Given the description of an element on the screen output the (x, y) to click on. 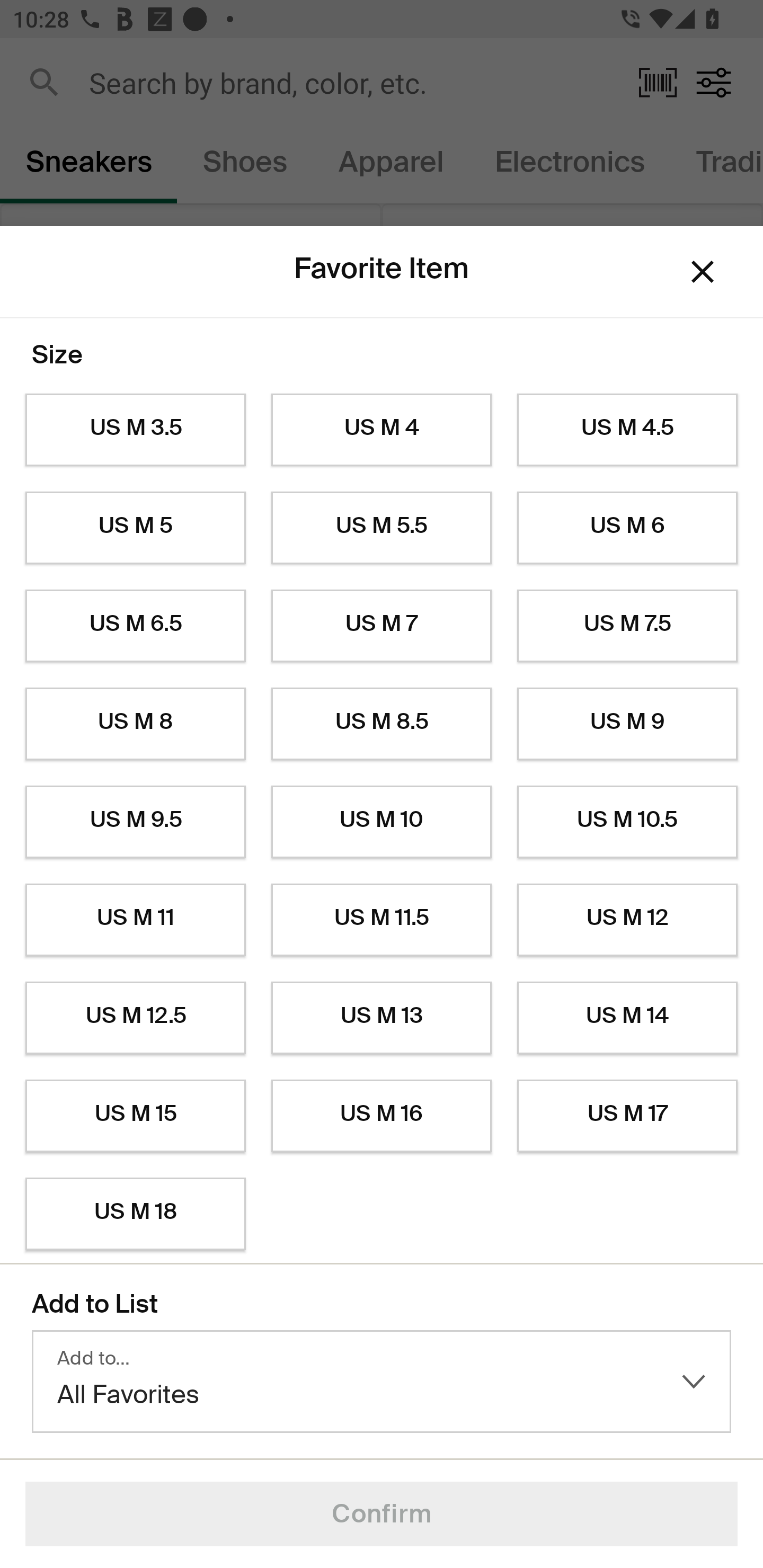
Dismiss (702, 271)
US M 3.5 (135, 430)
US M 4 (381, 430)
US M 4.5 (627, 430)
US M 5 (135, 527)
US M 5.5 (381, 527)
US M 6 (627, 527)
US M 6.5 (135, 626)
US M 7 (381, 626)
US M 7.5 (627, 626)
US M 8 (135, 724)
US M 8.5 (381, 724)
US M 9 (627, 724)
US M 9.5 (135, 822)
US M 10 (381, 822)
US M 10.5 (627, 822)
US M 11 (135, 919)
US M 11.5 (381, 919)
US M 12 (627, 919)
US M 12.5 (135, 1018)
US M 13 (381, 1018)
US M 14 (627, 1018)
US M 15 (135, 1116)
US M 16 (381, 1116)
US M 17 (627, 1116)
US M 18 (135, 1214)
Add to… All Favorites (381, 1381)
Confirm (381, 1513)
